Given the description of an element on the screen output the (x, y) to click on. 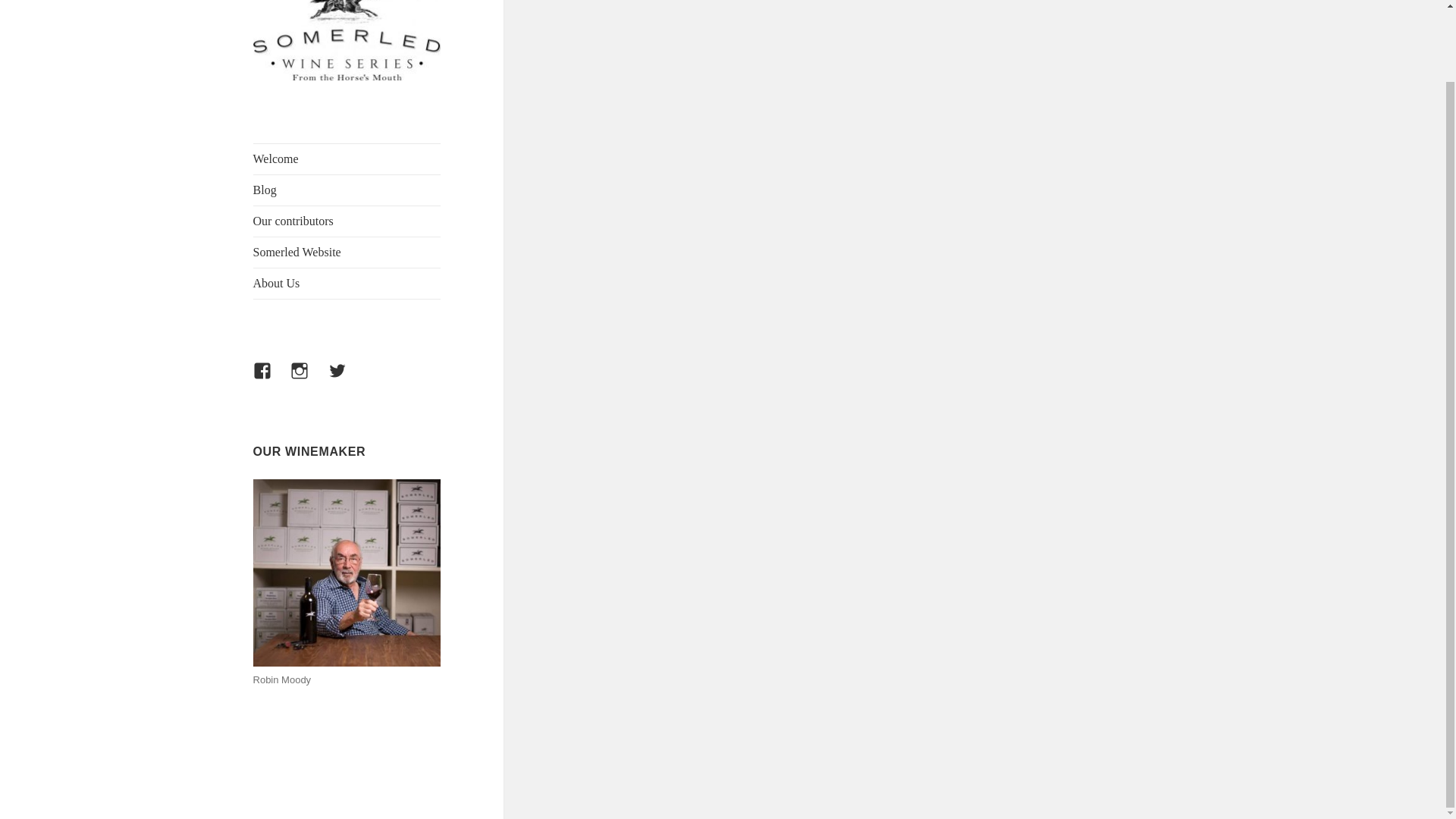
Twitter (347, 379)
Instagram (307, 379)
About Us (347, 283)
Welcome (347, 159)
Somerled Wine Education Blog (328, 116)
Somerled Website (347, 252)
Blog (347, 190)
Facebook (271, 379)
Our contributors (347, 221)
